Given the description of an element on the screen output the (x, y) to click on. 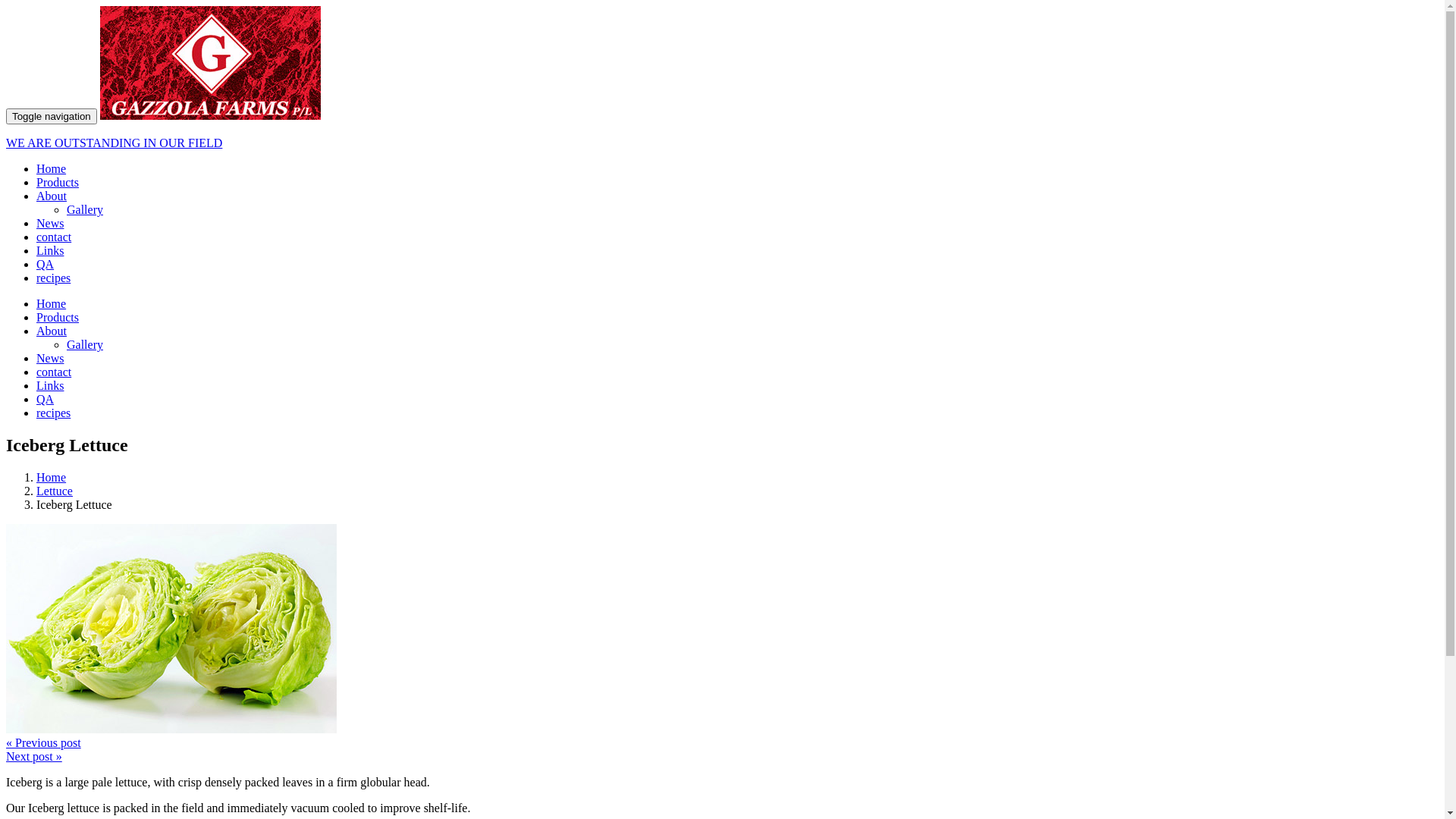
Home Element type: text (50, 168)
QA Element type: text (44, 263)
WE ARE OUTSTANDING IN OUR FIELD Element type: text (722, 129)
News Element type: text (49, 222)
Gallery Element type: text (84, 344)
Toggle navigation Element type: text (51, 116)
Gallery Element type: text (84, 209)
About Element type: text (51, 330)
About Element type: text (51, 195)
Home Element type: text (50, 303)
Products Element type: text (57, 316)
Products Element type: text (57, 181)
QA Element type: text (44, 398)
contact Element type: text (53, 236)
Links Element type: text (49, 385)
News Element type: text (49, 357)
Home Element type: text (50, 476)
recipes Element type: text (53, 277)
contact Element type: text (53, 371)
recipes Element type: text (53, 412)
Lettuce Element type: text (54, 490)
Links Element type: text (49, 250)
